Given the description of an element on the screen output the (x, y) to click on. 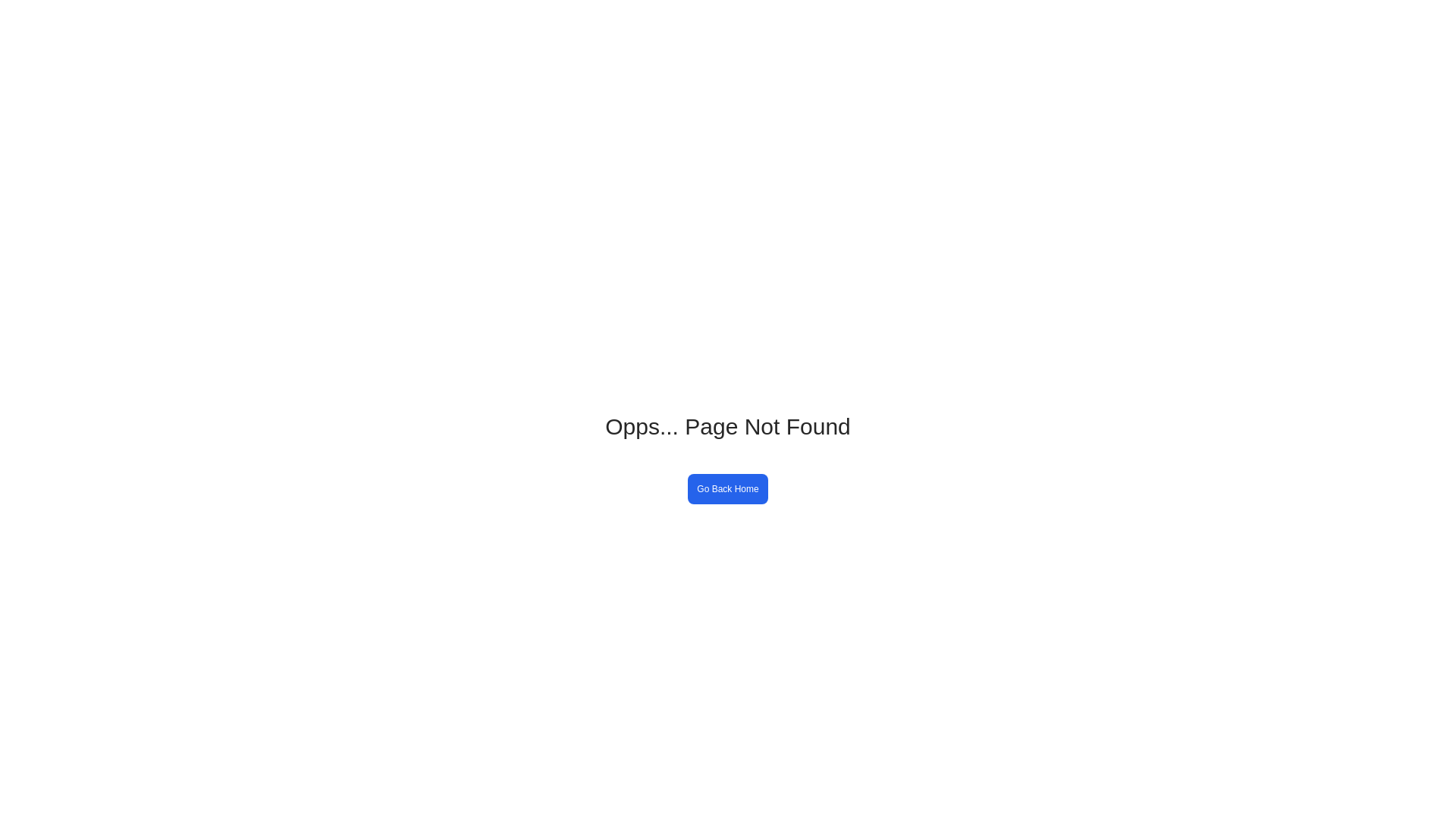
Go Back Home Element type: text (727, 488)
